Given the description of an element on the screen output the (x, y) to click on. 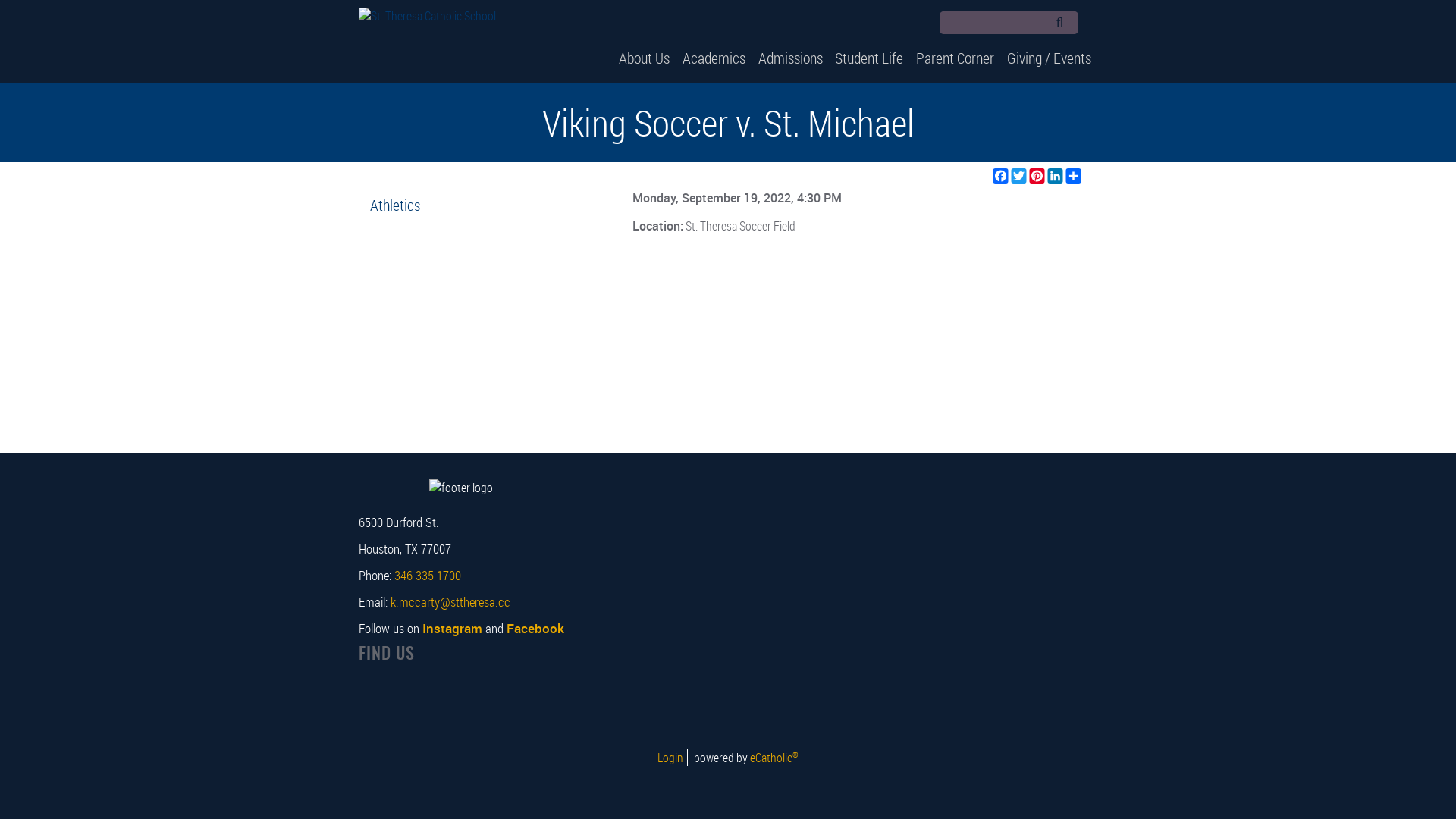
Pinterest Element type: text (1037, 175)
Athletics Element type: text (471, 205)
Instagram Element type: text (451, 628)
346-335-1700 Element type: text (427, 574)
Academics Element type: text (713, 57)
Parent Corner Element type: text (955, 57)
Facebook Element type: text (1092, 23)
Giving / Events Element type: text (1049, 57)
Facebook Element type: text (535, 628)
About Us Element type: text (644, 57)
Facebook Element type: text (1000, 175)
Share Element type: text (1073, 175)
Twitter Element type: text (1019, 175)
Admissions Element type: text (789, 57)
k.mccarty@sttheresa.cc Element type: text (449, 601)
Student Life Element type: text (869, 57)
LinkedIn Element type: text (1055, 175)
